Given the description of an element on the screen output the (x, y) to click on. 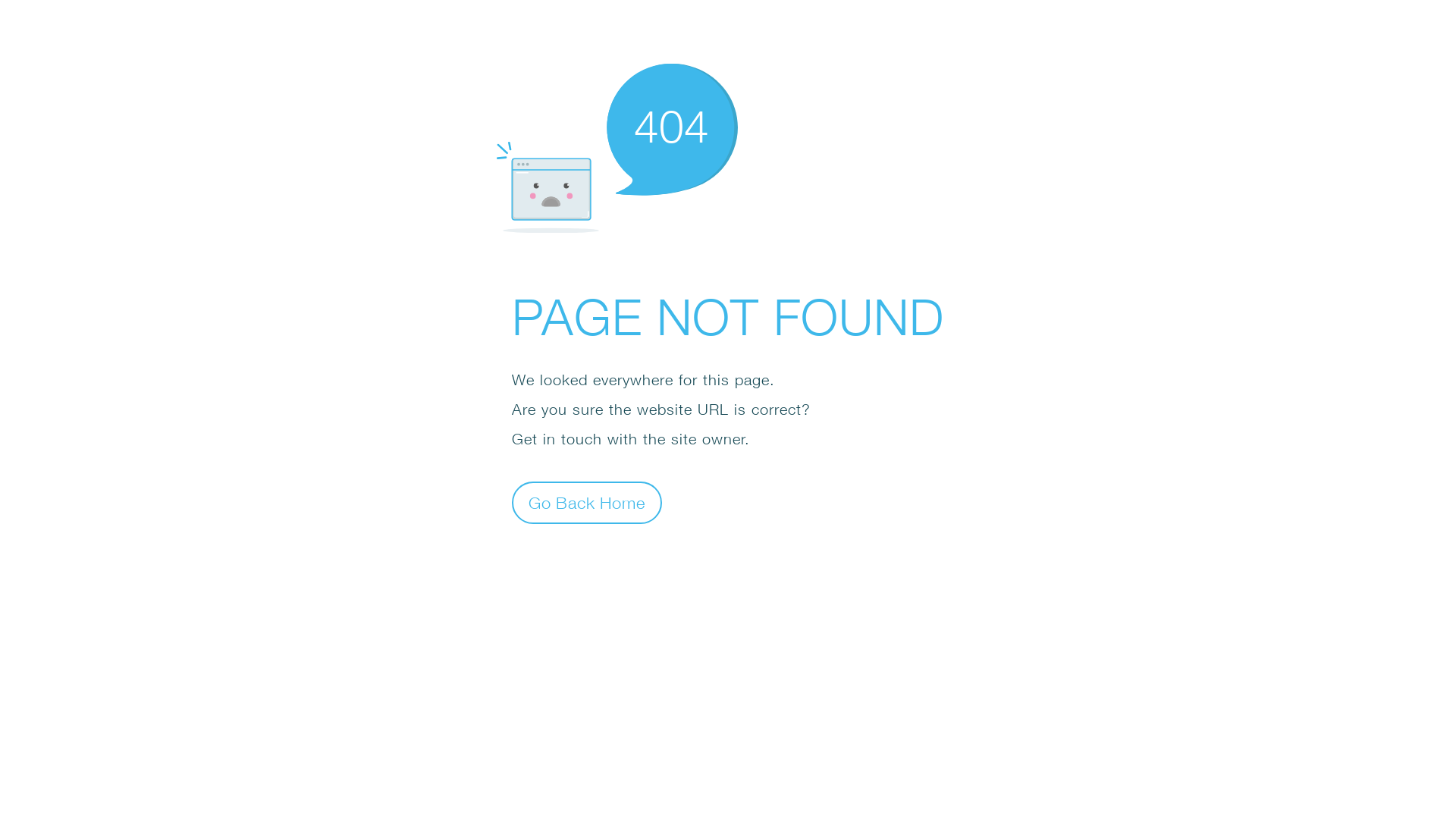
Go Back Home Element type: text (586, 502)
